Given the description of an element on the screen output the (x, y) to click on. 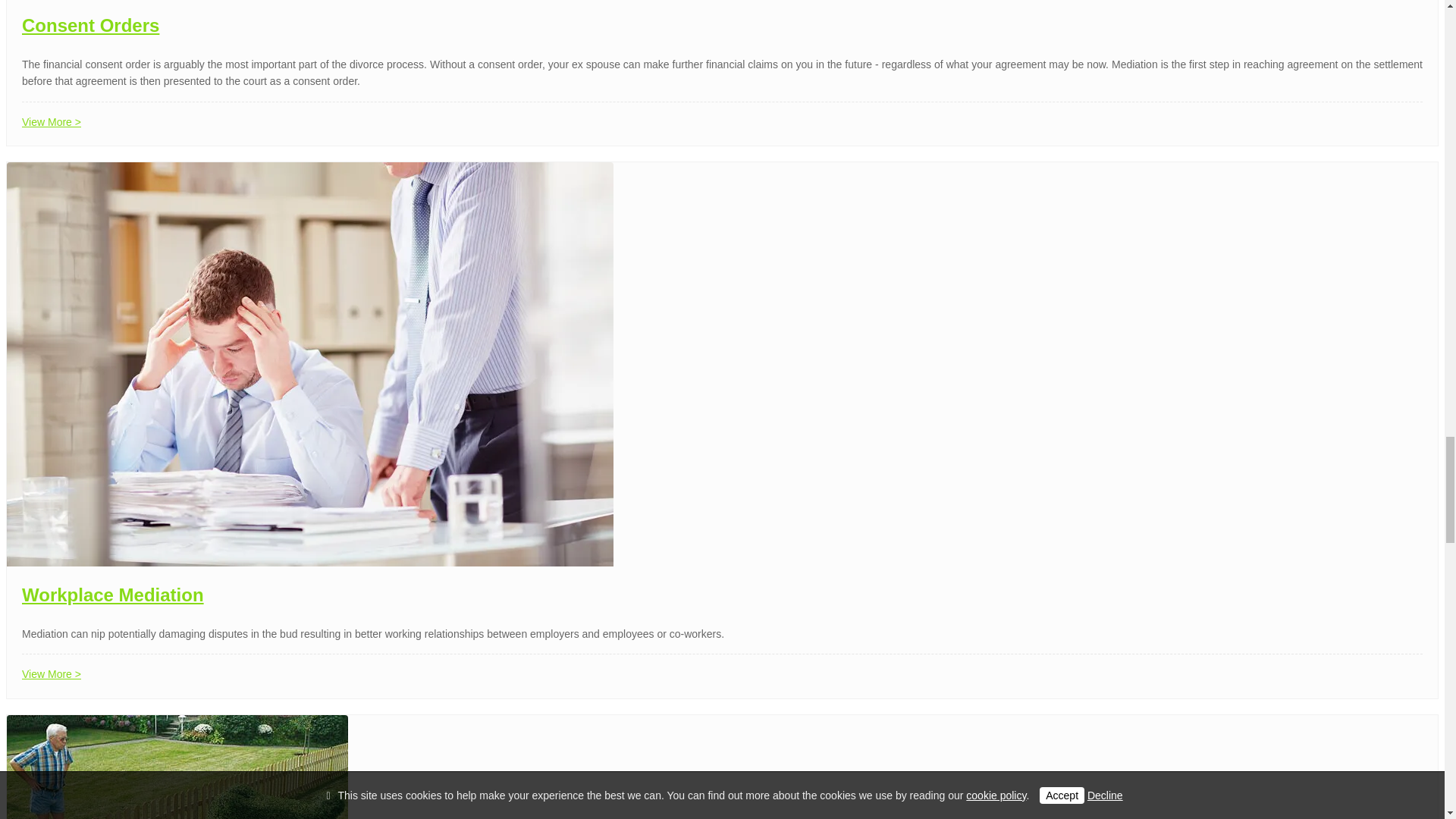
Consent Orders (89, 25)
Workplace Mediation (112, 594)
